Given the description of an element on the screen output the (x, y) to click on. 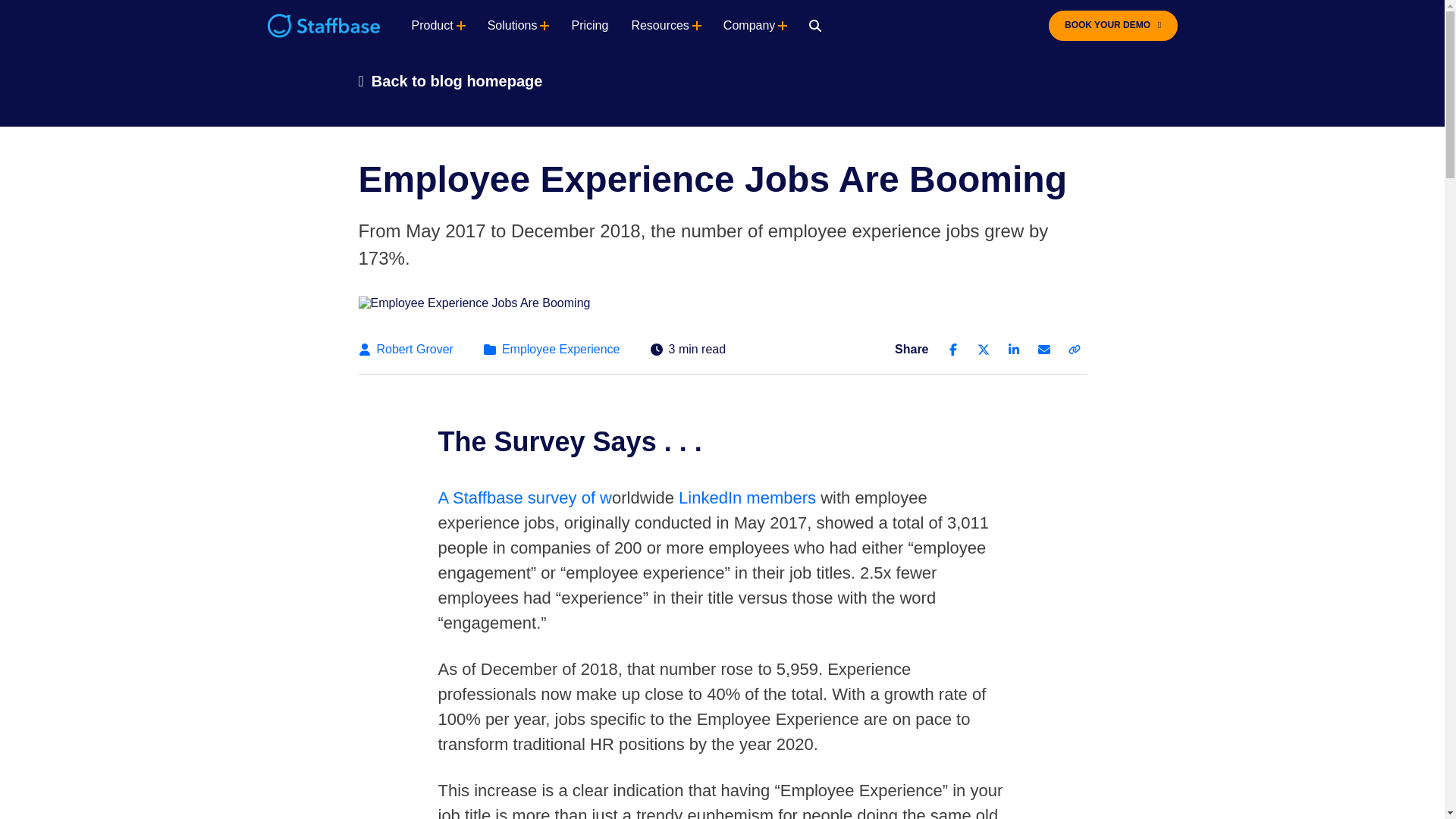
Email (1042, 349)
Twitter (982, 349)
Product (431, 25)
Facebook (951, 349)
LinkedIn (1013, 349)
Solutions (512, 25)
Resources (659, 25)
Pricing (589, 25)
